Given the description of an element on the screen output the (x, y) to click on. 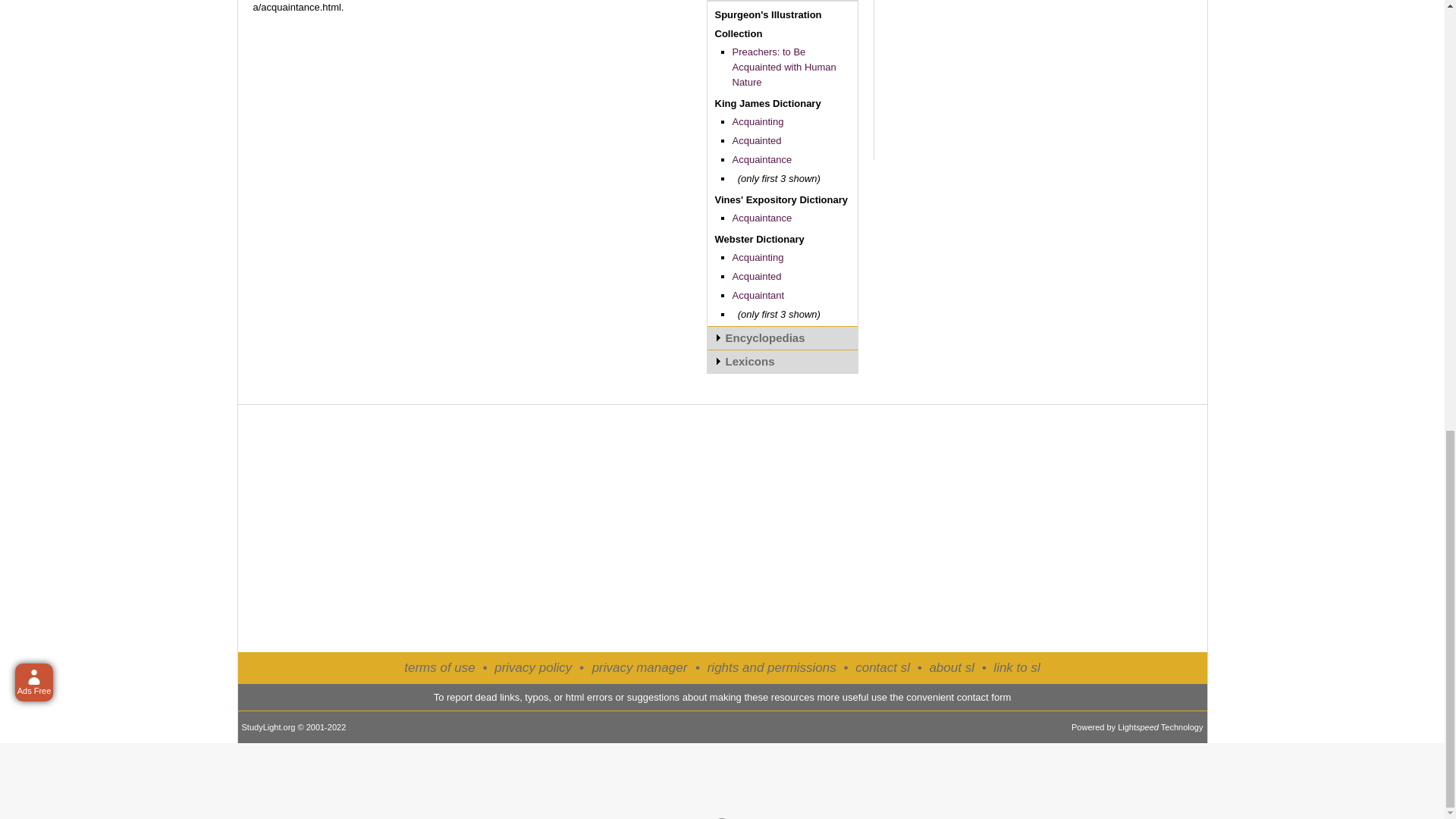
Acquainting (758, 121)
Preachers: to Be Acquainted with Human Nature (783, 66)
